Given the description of an element on the screen output the (x, y) to click on. 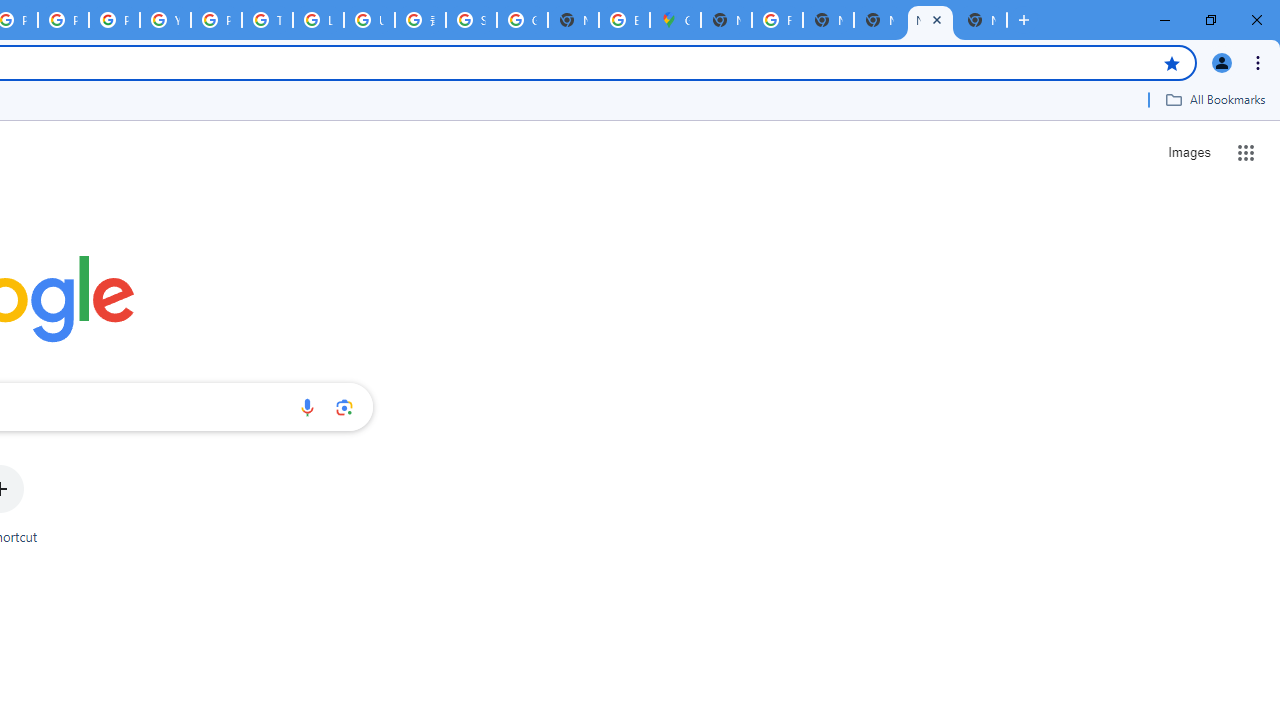
YouTube (164, 20)
Google Maps (675, 20)
Privacy Help Center - Policies Help (63, 20)
New Tab (981, 20)
